Given the description of an element on the screen output the (x, y) to click on. 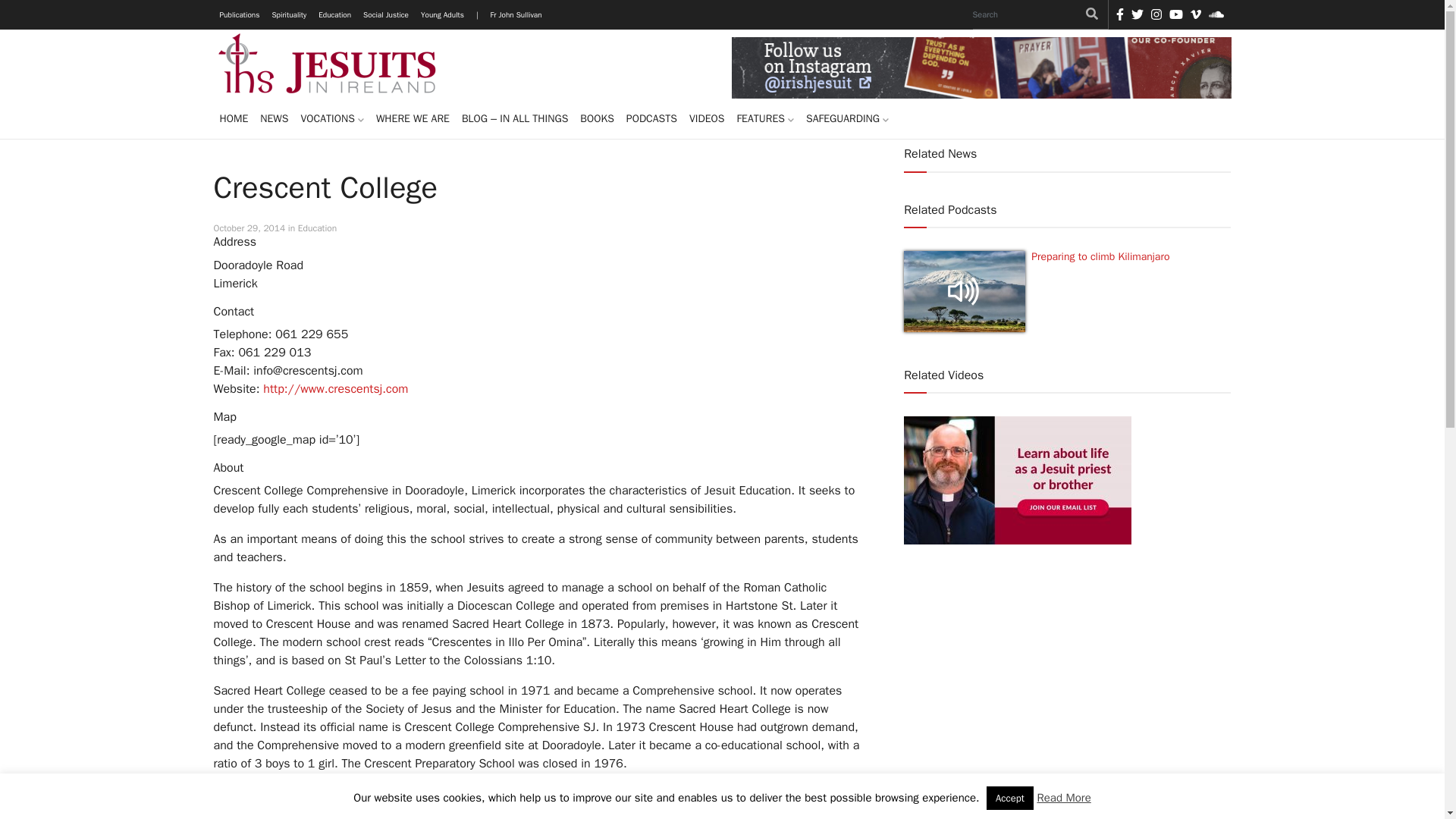
Young Adults (442, 14)
Social Justice (385, 14)
Fr John Sullivan (516, 14)
Education (334, 14)
Cresent College (335, 388)
Publications (240, 14)
Spirituality (288, 14)
